Given the description of an element on the screen output the (x, y) to click on. 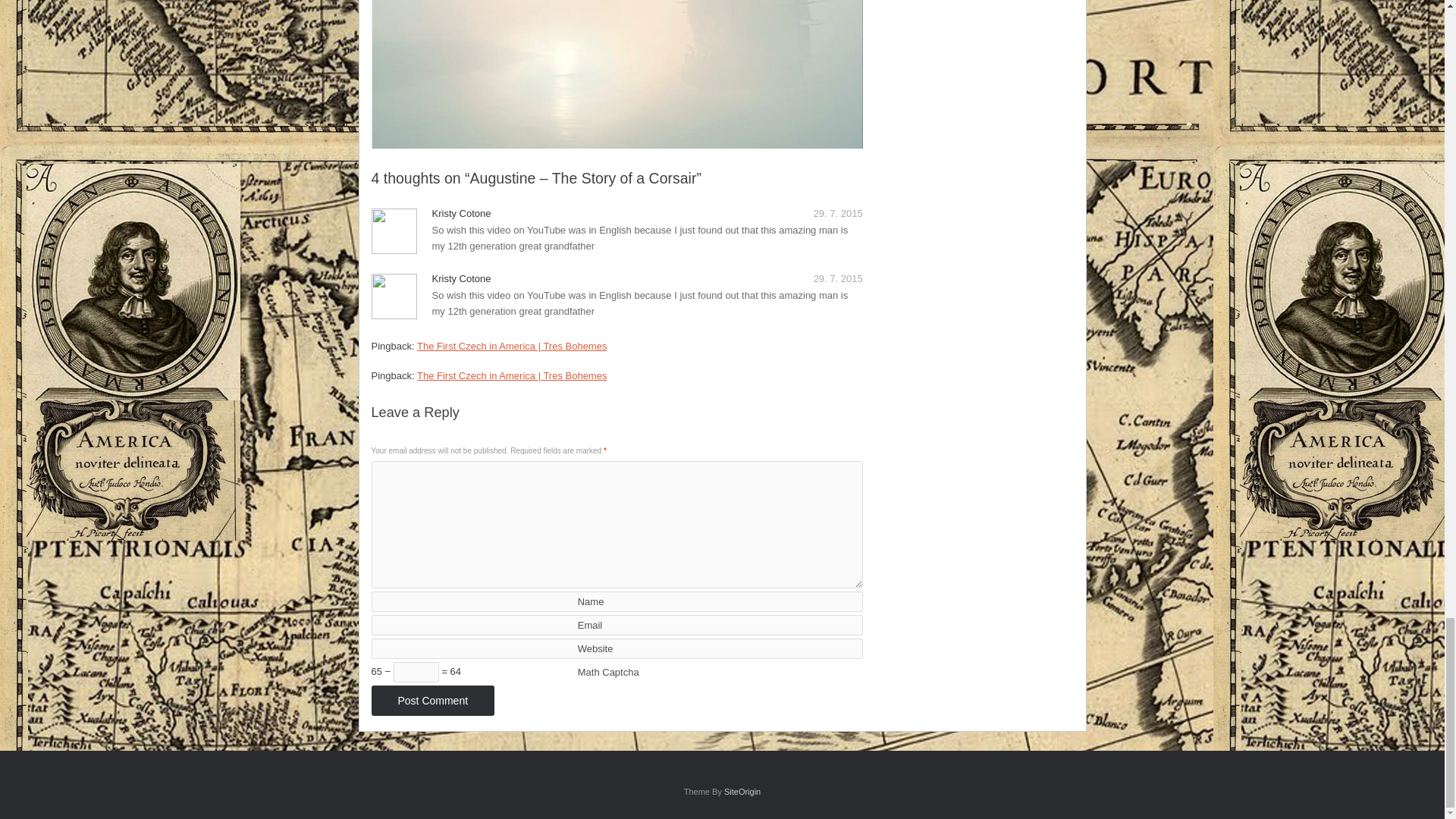
Post Comment (433, 700)
29. 7. 2015 (838, 278)
29. 7. 2015 (838, 213)
Post Comment (433, 700)
SiteOrigin (741, 791)
